Given the description of an element on the screen output the (x, y) to click on. 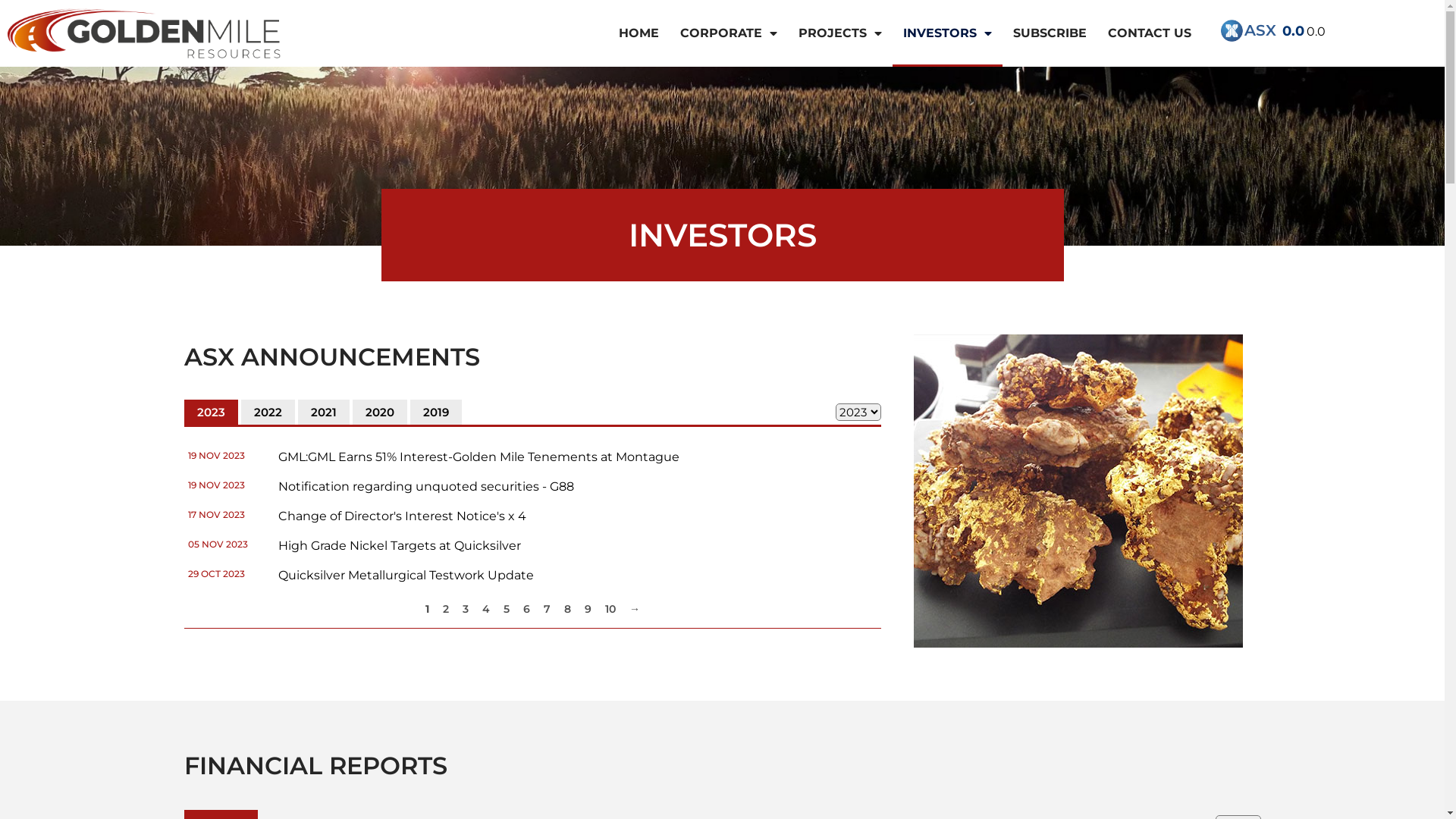
HOME Element type: text (638, 33)
SUBSCRIBE Element type: text (1049, 33)
CORPORATE Element type: text (728, 33)
INVESTORS Element type: text (947, 33)
CONTACT US Element type: text (1149, 33)
PROJECTS Element type: text (839, 33)
